Given the description of an element on the screen output the (x, y) to click on. 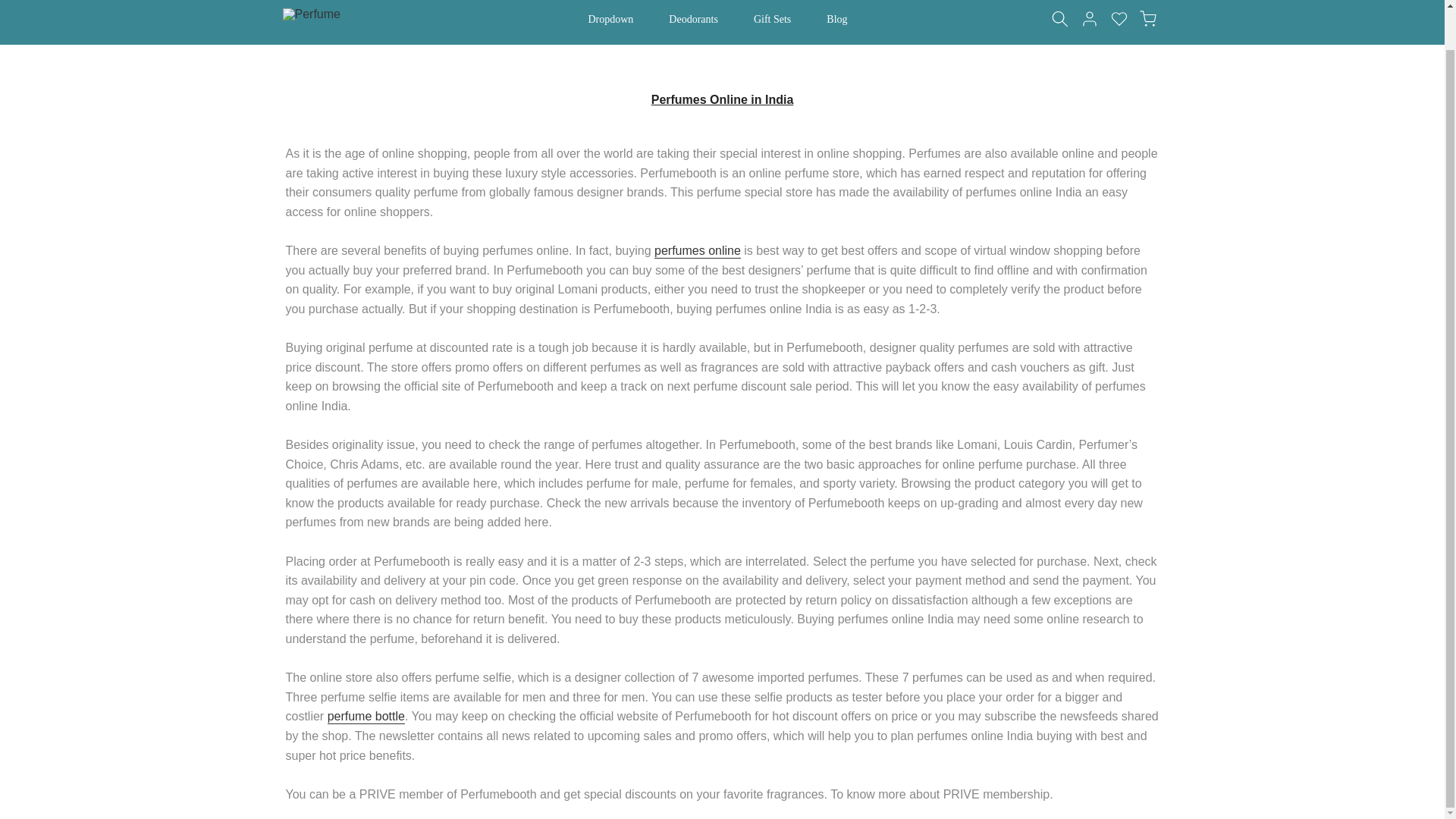
Deodorants (698, 18)
Gift Sets (775, 18)
Dropdown (615, 18)
perfume bottle (365, 716)
Blog (841, 18)
perfumes online (697, 251)
